Given the description of an element on the screen output the (x, y) to click on. 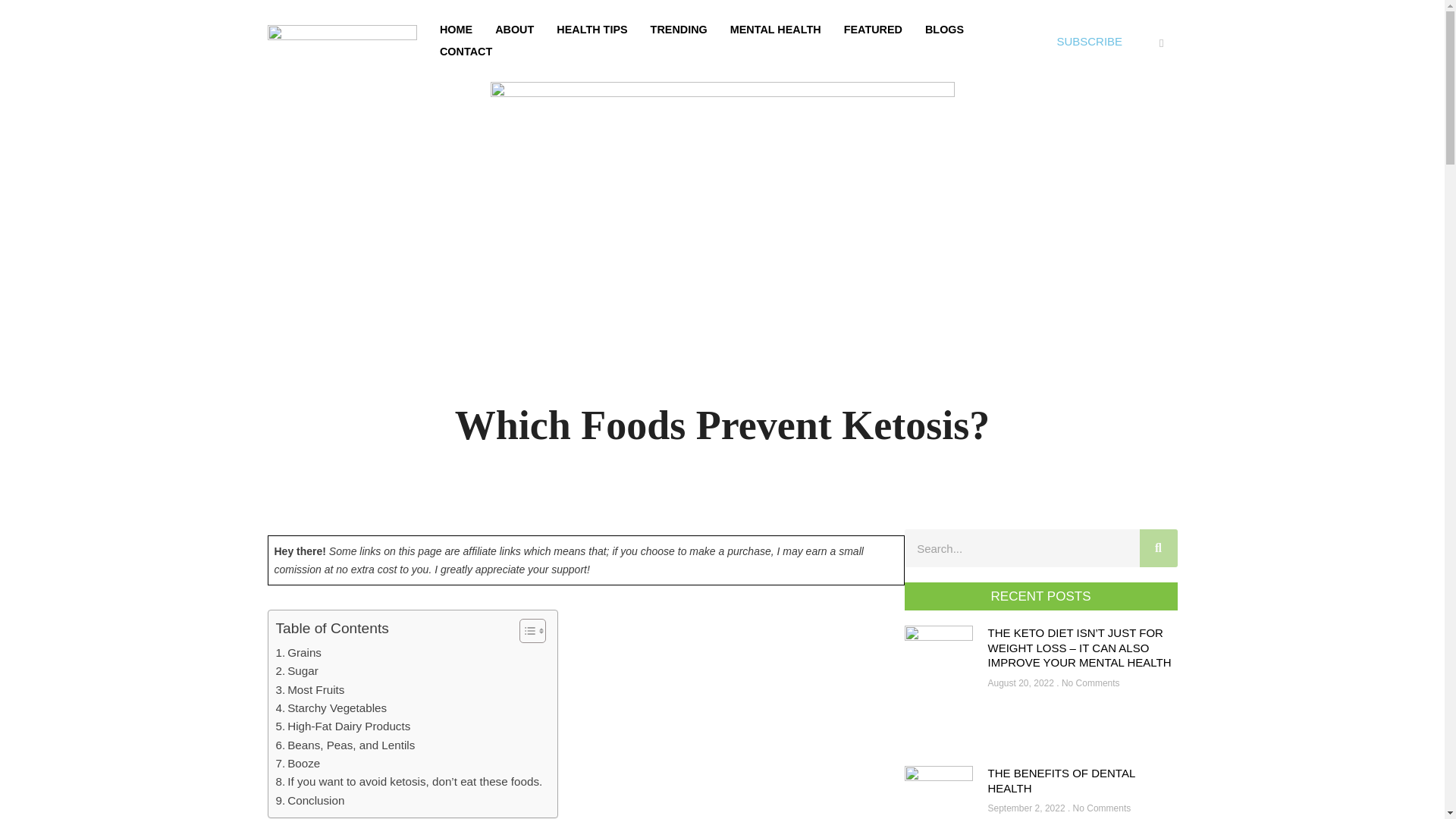
BLOGS (944, 29)
Most Fruits (310, 689)
Sugar (297, 670)
THE BENEFITS OF DENTAL HEALTH (1060, 780)
Beans, Peas, and Lentils (345, 745)
TRENDING (679, 29)
Booze (298, 763)
MENTAL HEALTH (775, 29)
ABOUT (513, 29)
Conclusion (310, 800)
